Given the description of an element on the screen output the (x, y) to click on. 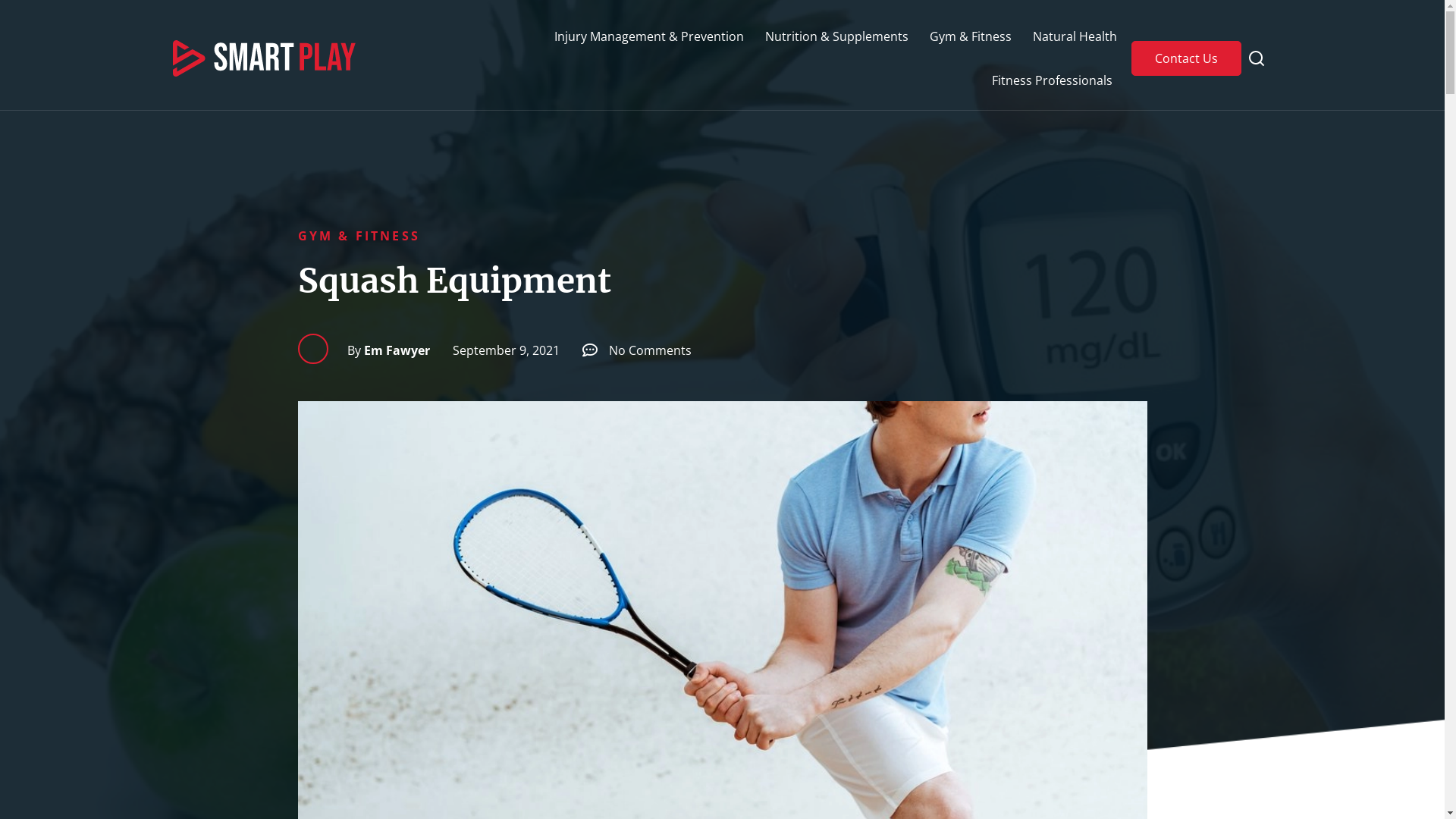
Nutrition & Supplements Element type: text (836, 36)
Injury Management & Prevention Element type: text (649, 36)
Gym & Fitness Element type: text (970, 36)
No Comments Element type: text (636, 350)
Natural Health Element type: text (1074, 36)
Fitness Professionals Element type: text (1051, 80)
Em Fawyer Element type: text (388, 350)
September 9, 2021 Element type: text (500, 350)
Contact Us Element type: text (1186, 57)
